Given the description of an element on the screen output the (x, y) to click on. 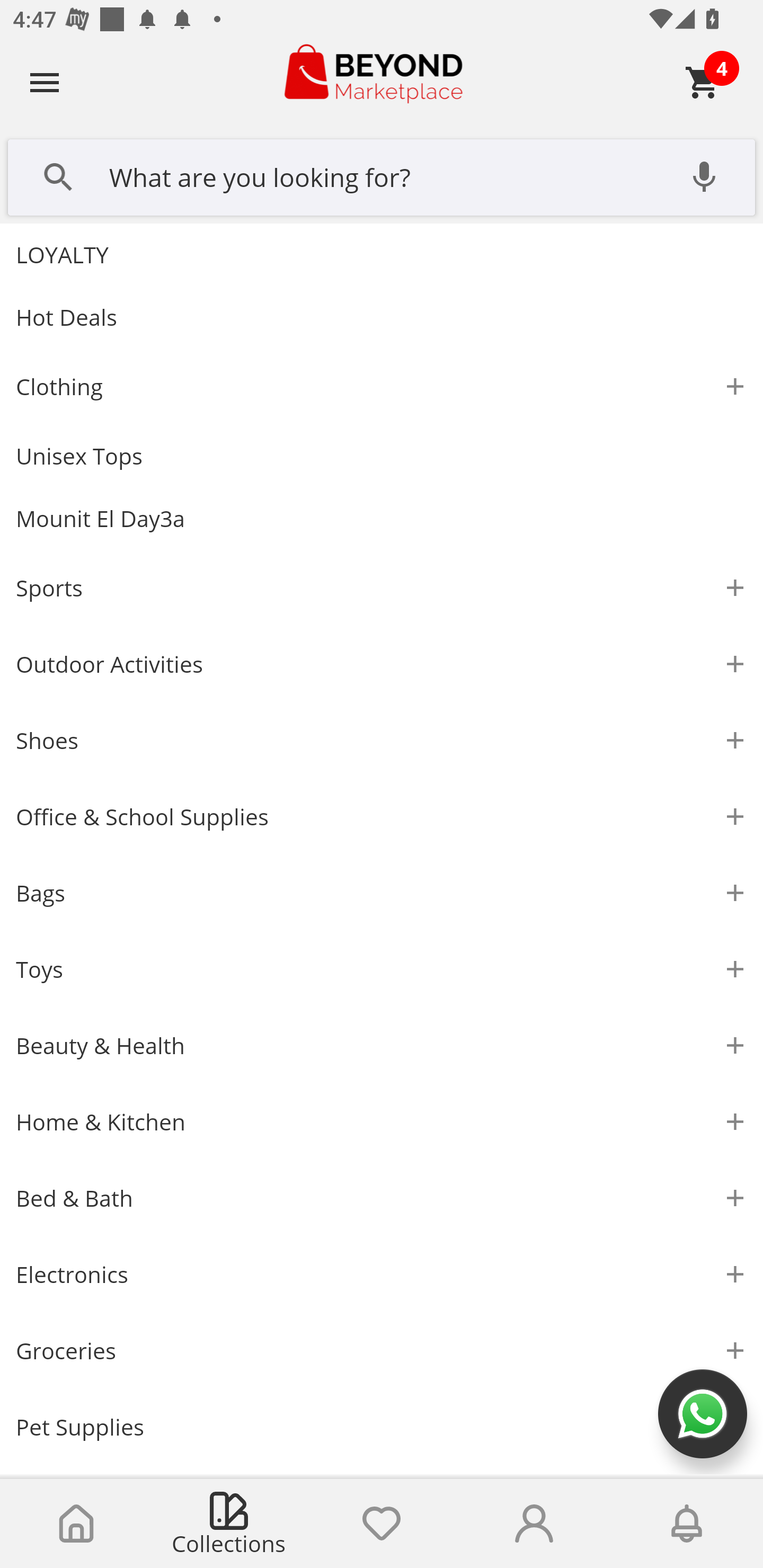
Navigate up (44, 82)
What are you looking for? (381, 175)
LOYALTY (381, 254)
Hot Deals (381, 316)
Clothing (381, 386)
Unisex Tops (381, 455)
Mounit El Day3a (381, 518)
Sports (381, 587)
Outdoor Activities (381, 663)
Shoes (381, 740)
Office & School Supplies (381, 816)
Bags (381, 892)
Toys (381, 969)
Beauty & Health (381, 1045)
Home & Kitchen (381, 1121)
Bed & Bath (381, 1198)
Electronics (381, 1274)
Groceries (381, 1350)
Pet Supplies (381, 1426)
Home (76, 1523)
Wishlist (381, 1523)
Account (533, 1523)
Notifications (686, 1523)
